Given the description of an element on the screen output the (x, y) to click on. 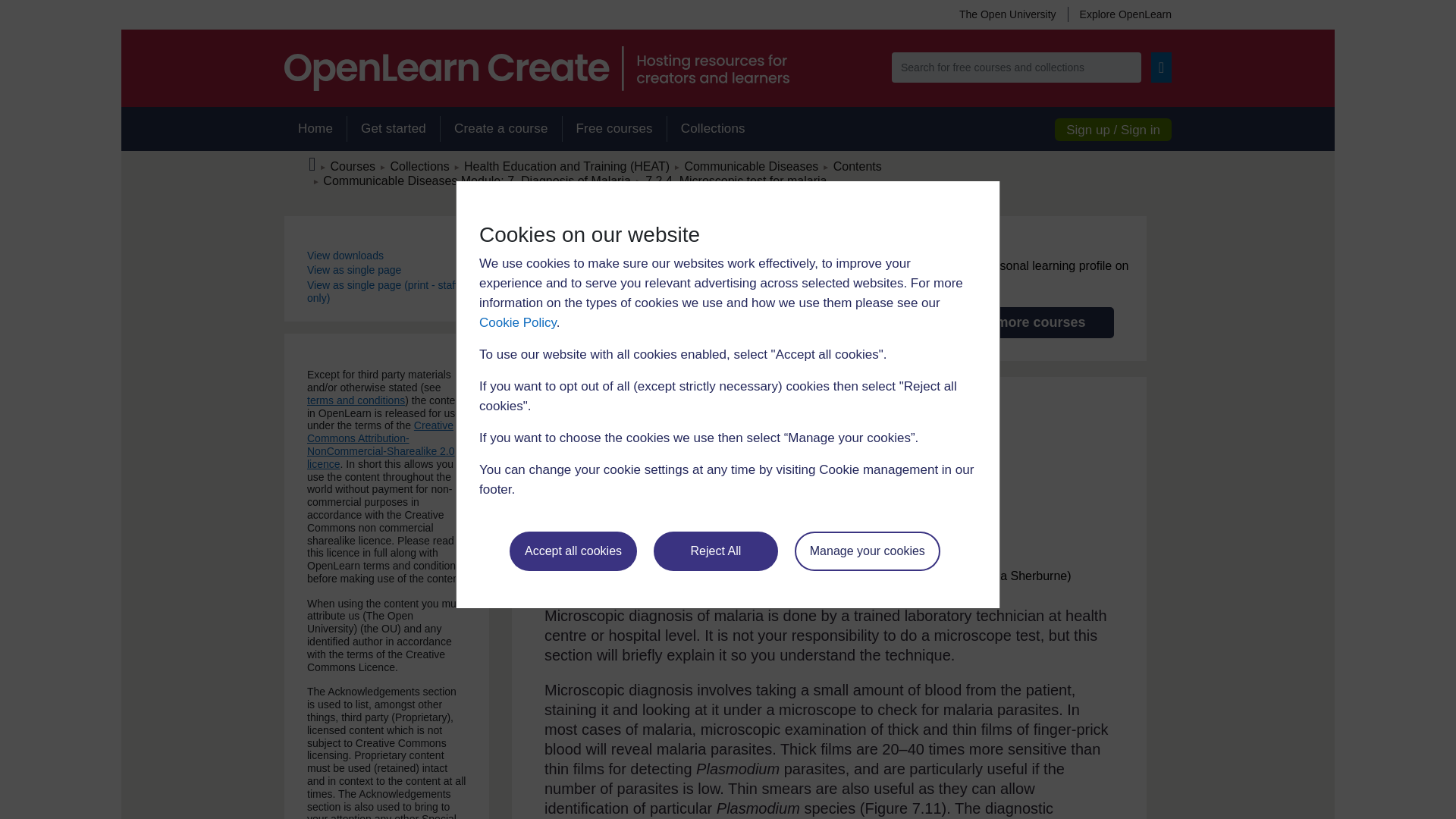
Accept all cookies (573, 550)
Home (314, 128)
Search (1161, 67)
Cookie Policy (517, 322)
Get started (392, 128)
SC Web Editor (476, 180)
Explore OpenLearn (1119, 14)
Explore OpenLearn (1119, 14)
Create a course (500, 128)
The Open University (1007, 14)
Reject All (715, 550)
OpenLearn Create (536, 67)
Free courses (614, 128)
The Open University (1007, 14)
Search (1161, 67)
